Given the description of an element on the screen output the (x, y) to click on. 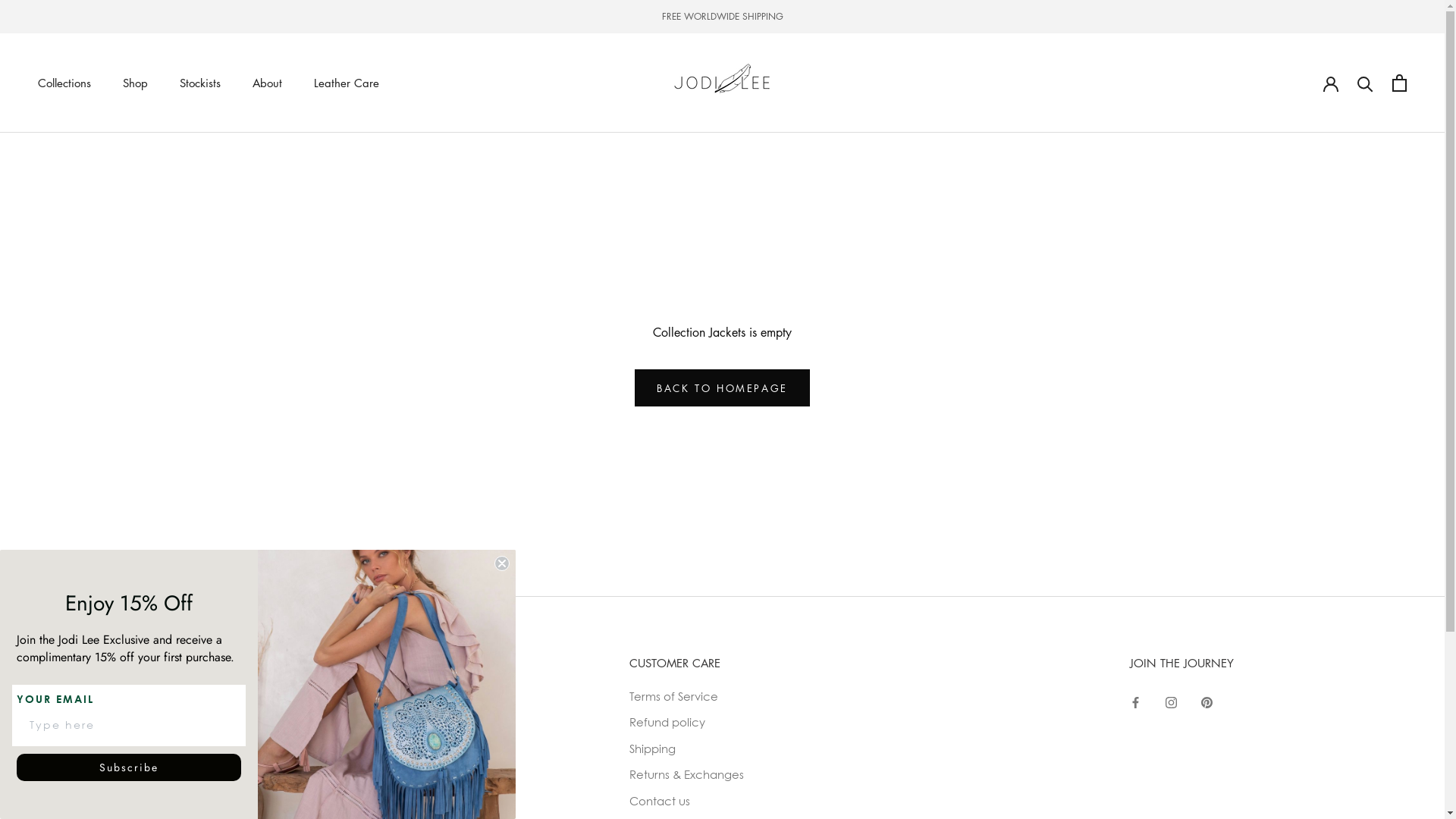
Leather Care
Leather Care Element type: text (346, 82)
Returns & Exchanges Element type: text (686, 774)
Contact us Element type: text (686, 800)
Shop
Shop Element type: text (134, 82)
Terms of Service Element type: text (686, 696)
Refund policy Element type: text (686, 722)
Stockists
Stockists Element type: text (199, 82)
Collections Element type: text (64, 82)
BACK TO HOMEPAGE Element type: text (721, 387)
About
About Element type: text (267, 82)
Shipping Element type: text (686, 748)
